Given the description of an element on the screen output the (x, y) to click on. 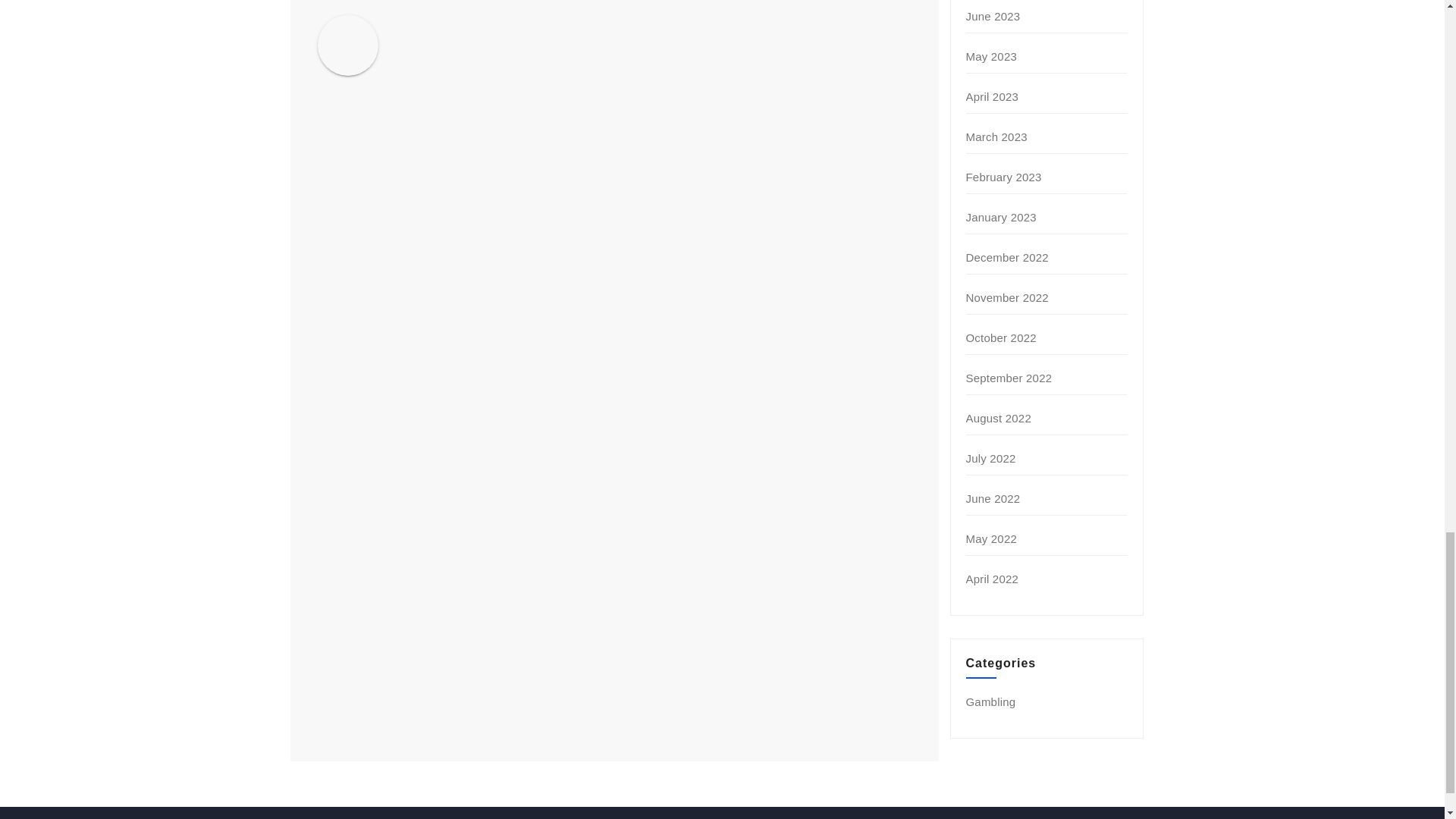
May 2023 (991, 56)
December 2022 (1007, 256)
adminss (473, 26)
June 2023 (993, 15)
March 2023 (996, 136)
April 2023 (992, 96)
January 2023 (1001, 216)
February 2023 (1004, 176)
